Given the description of an element on the screen output the (x, y) to click on. 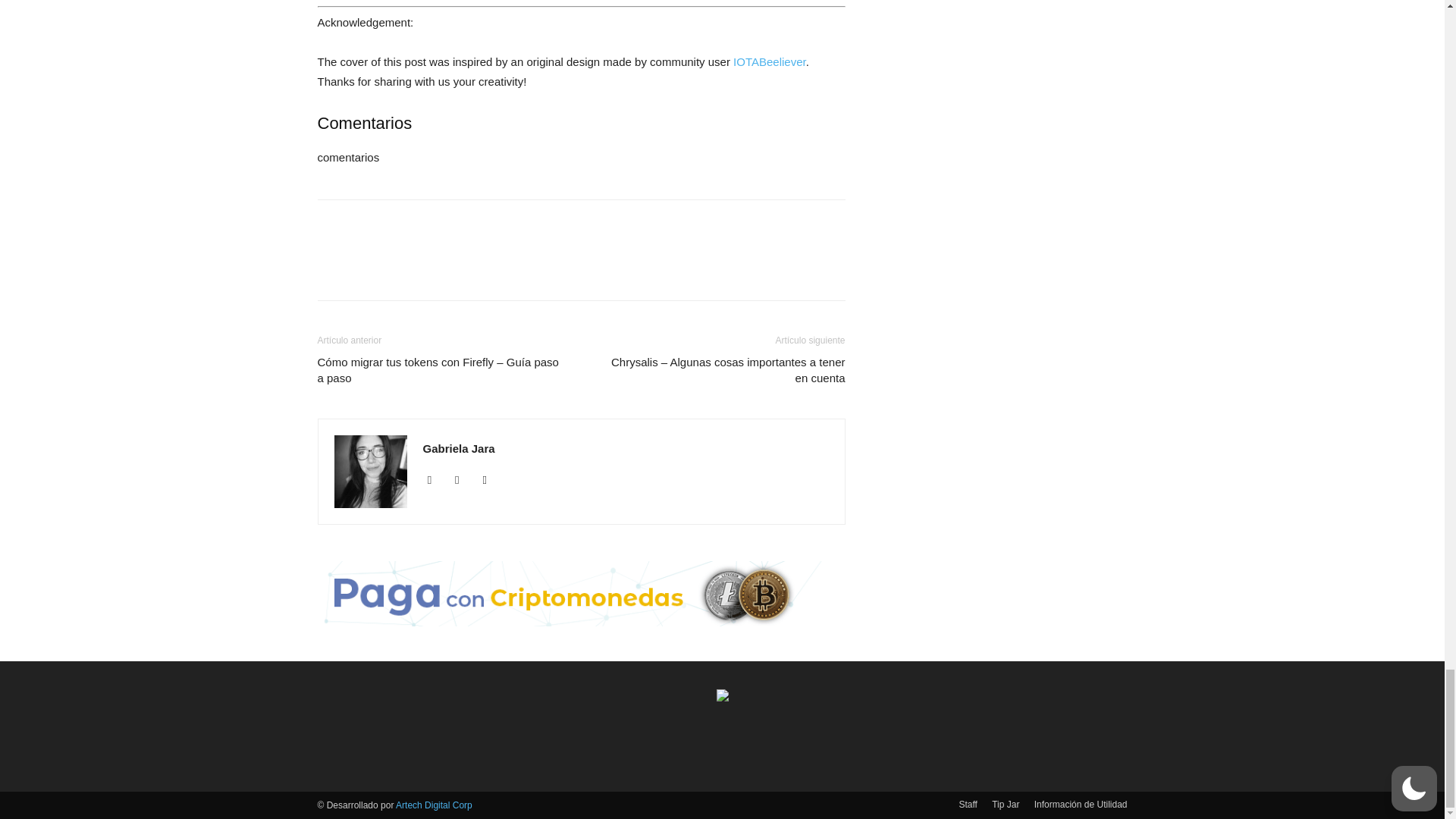
Telegram (462, 479)
Linkedin (435, 479)
Twitter (489, 479)
